Given the description of an element on the screen output the (x, y) to click on. 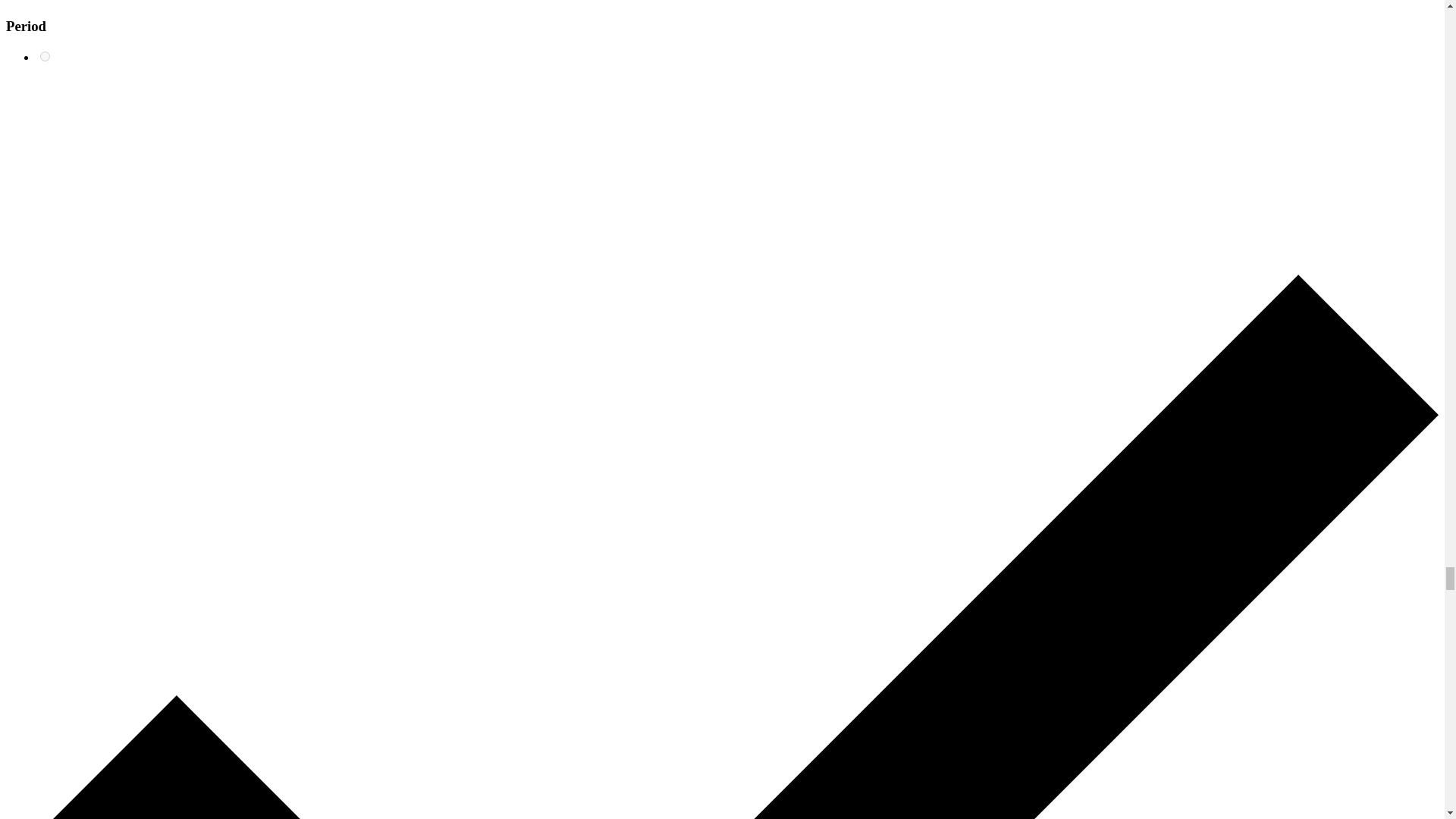
1980s (44, 56)
